Given the description of an element on the screen output the (x, y) to click on. 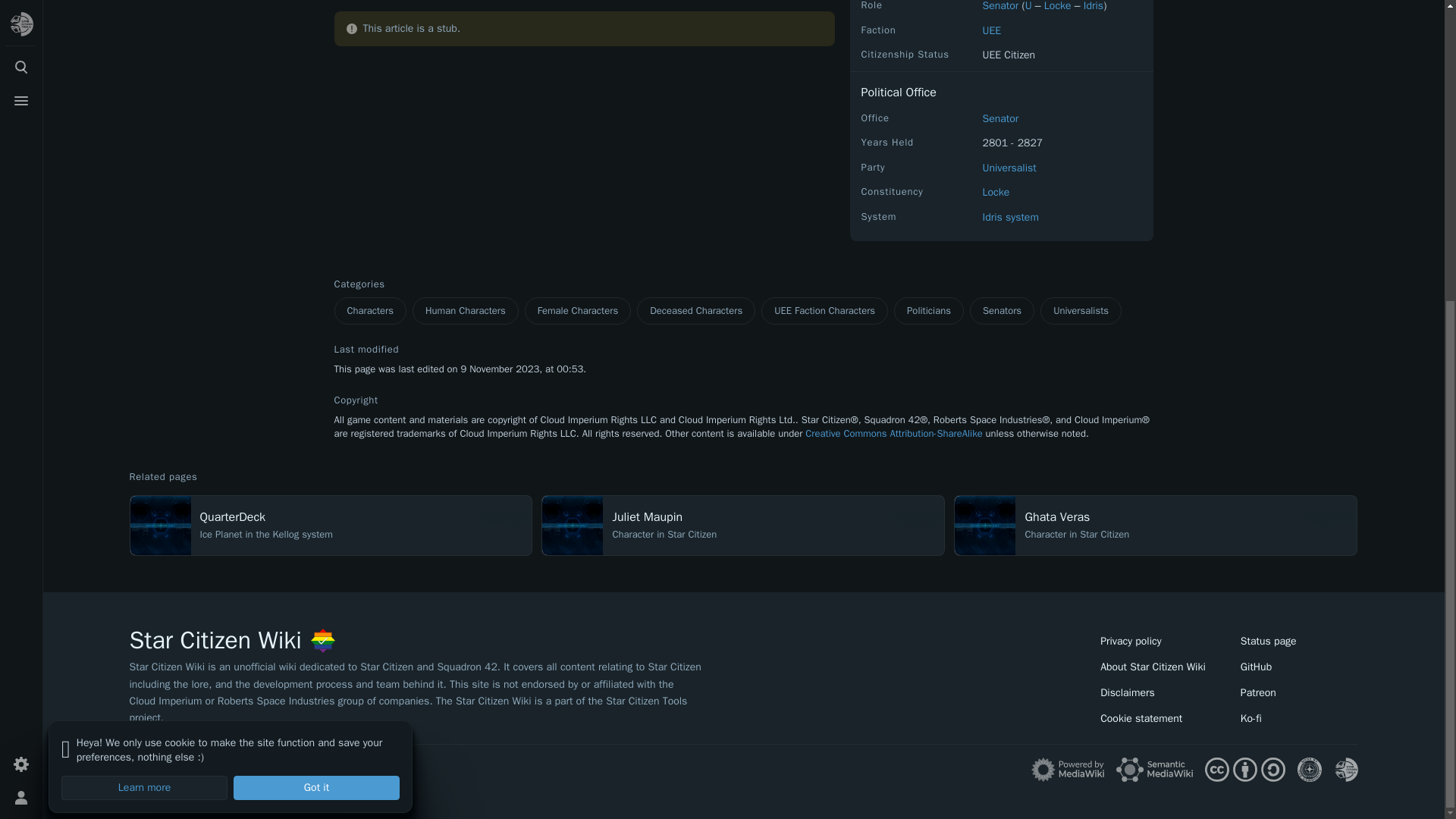
Toggle personal menu (20, 328)
Preferences (20, 295)
